Given the description of an element on the screen output the (x, y) to click on. 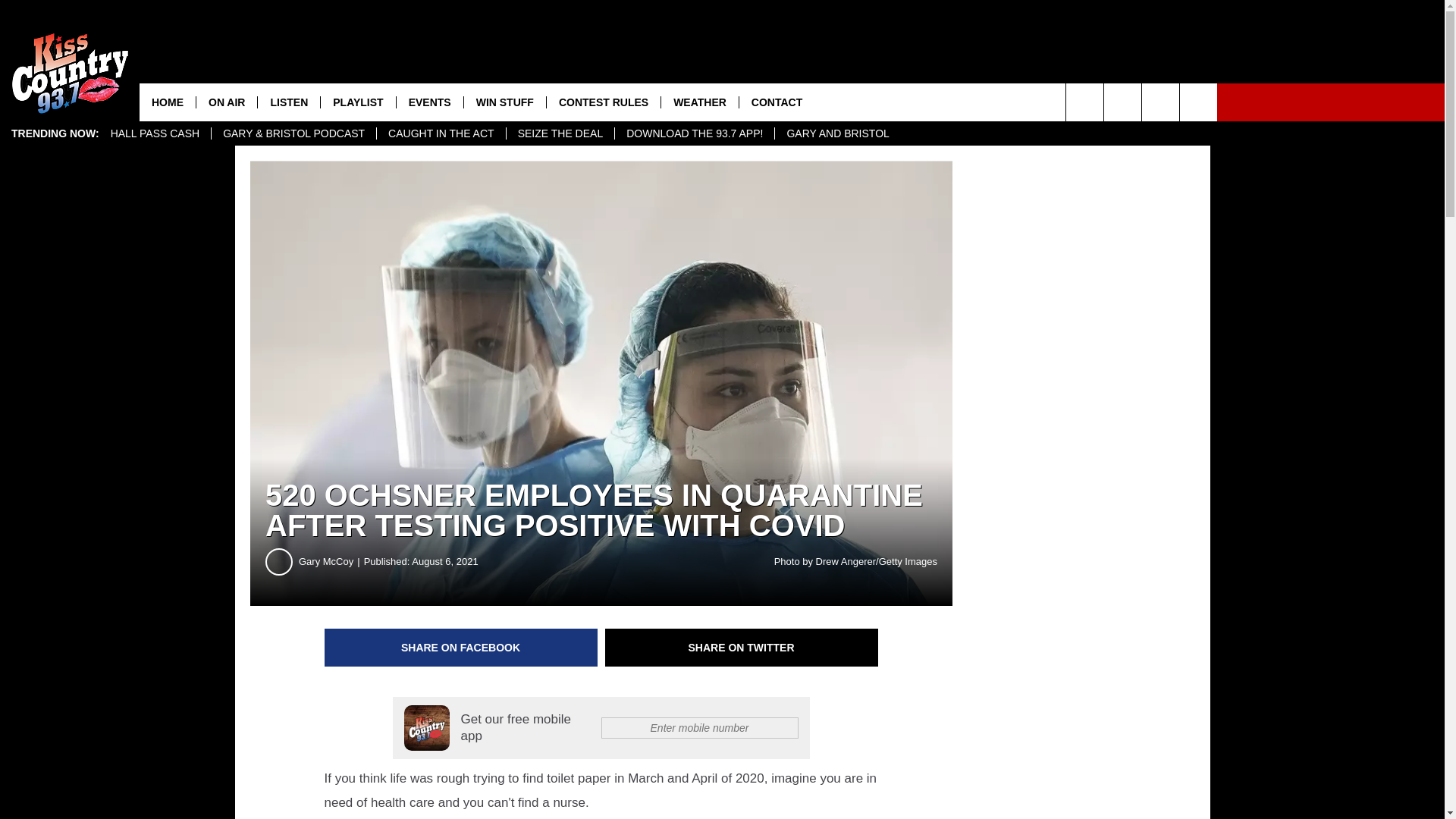
HALL PASS CASH (155, 133)
EVENTS (429, 102)
CONTACT (775, 102)
WIN STUFF (504, 102)
LISTEN (288, 102)
GARY AND BRISTOL (836, 133)
CONTEST RULES (603, 102)
DOWNLOAD THE 93.7 APP! (694, 133)
CAUGHT IN THE ACT (440, 133)
Share on Facebook (460, 647)
